Given the description of an element on the screen output the (x, y) to click on. 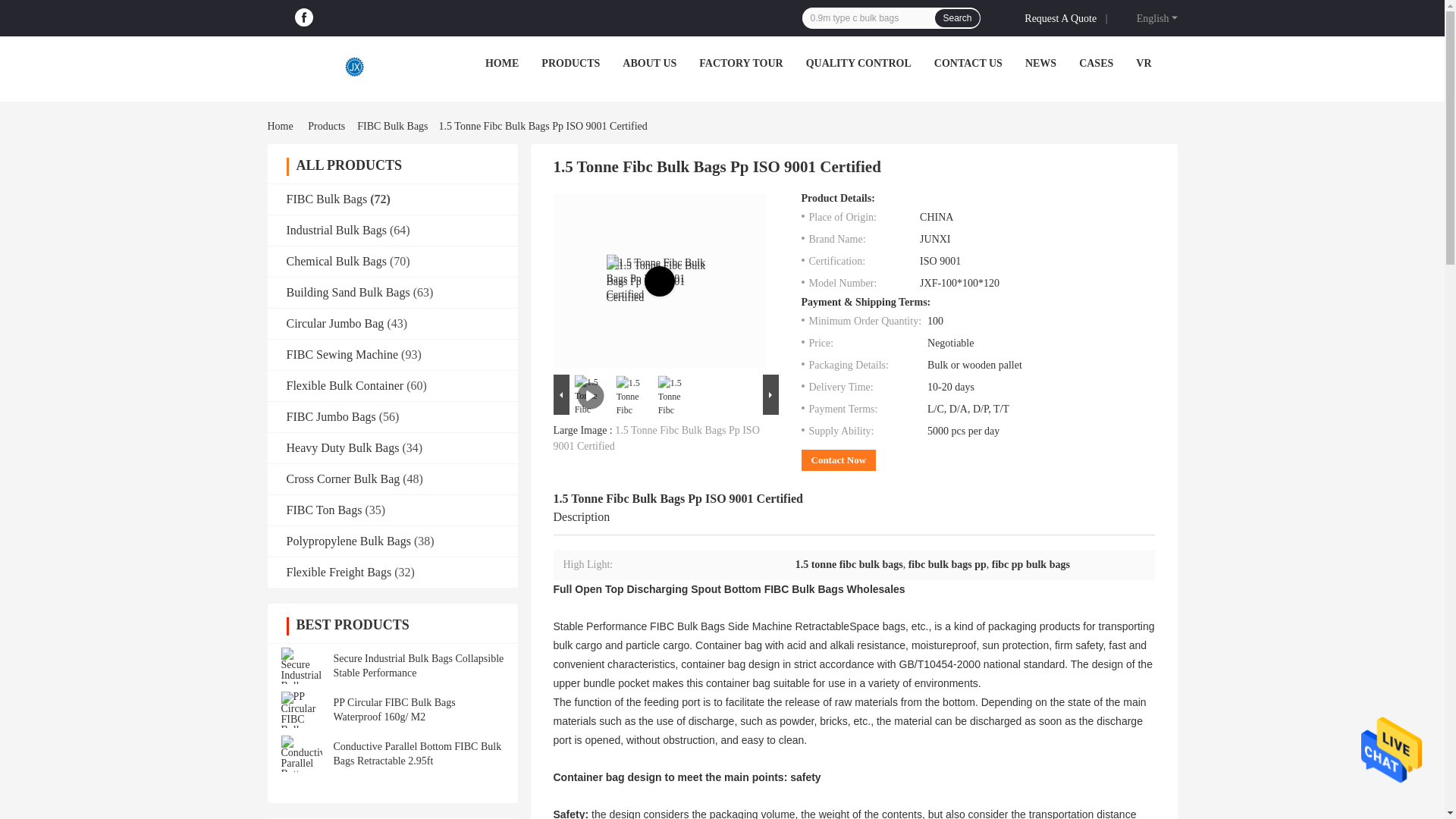
VR (1143, 62)
Industrial Bulk Bags (336, 229)
Home (282, 126)
FACTORY TOUR (740, 62)
ABOUT US (650, 62)
QUALITY CONTROL (858, 62)
Request A Quote (1063, 17)
Products (325, 126)
CONTACT US (968, 62)
Search (956, 18)
PRODUCTS (570, 62)
FIBC Bulk Bags (391, 126)
Cangzhou Junxi Group Co., Ltd. Facebook (303, 17)
FIBC Bulk Bags (327, 198)
HOME (501, 62)
